Given the description of an element on the screen output the (x, y) to click on. 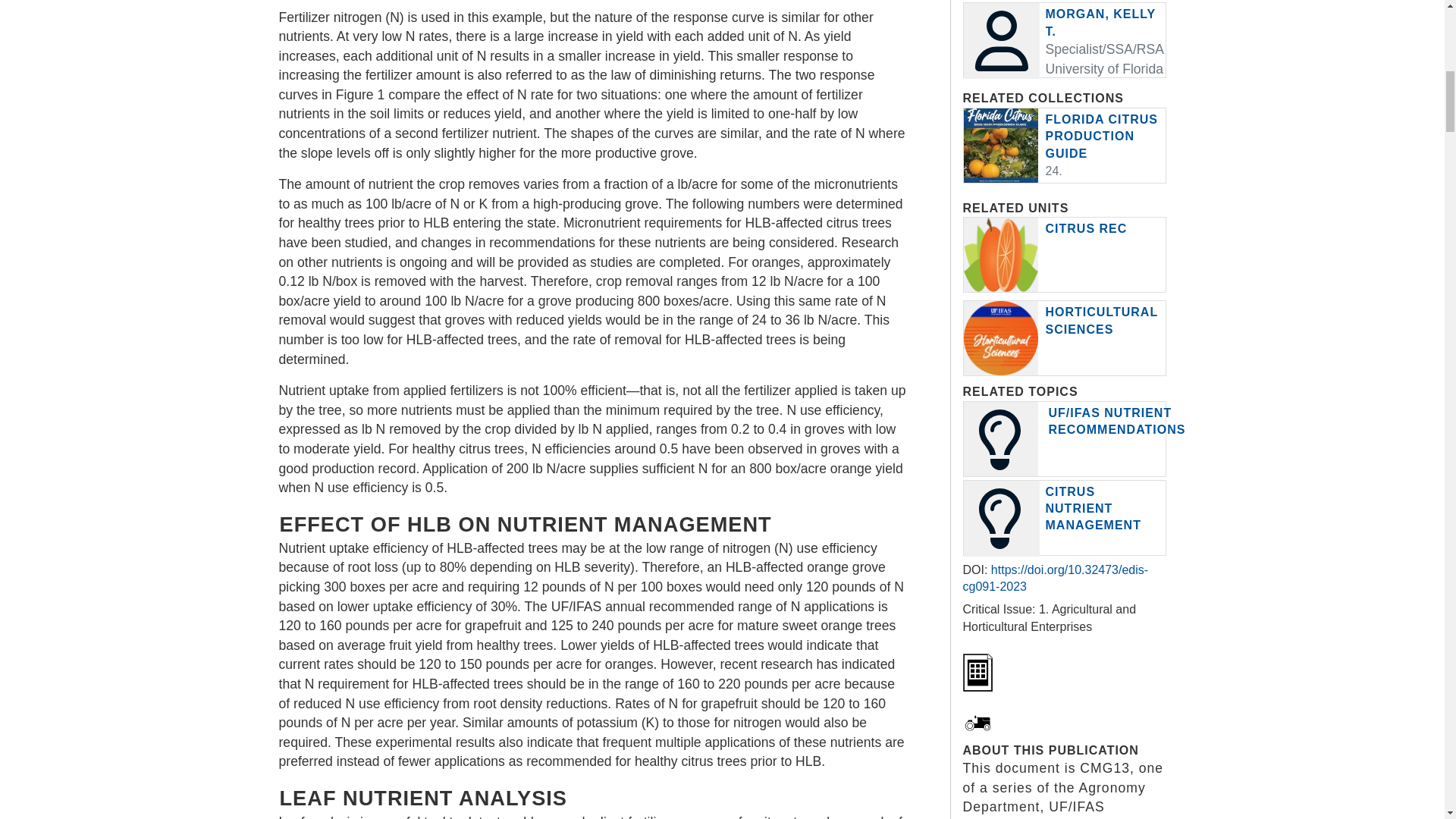
CITRUS REC (1085, 228)
Morgan, Kelly T. (1099, 21)
MORGAN, KELLY T. (1099, 21)
CITRUS NUTRIENT MANAGEMENT (1092, 508)
HORTICULTURAL SCIENCES (1101, 319)
FLORIDA CITRUS PRODUCTION GUIDE (1101, 136)
Citrus REC (1085, 228)
Florida Citrus Production Guide (1101, 136)
Horticultural Sciences (1101, 319)
